Given the description of an element on the screen output the (x, y) to click on. 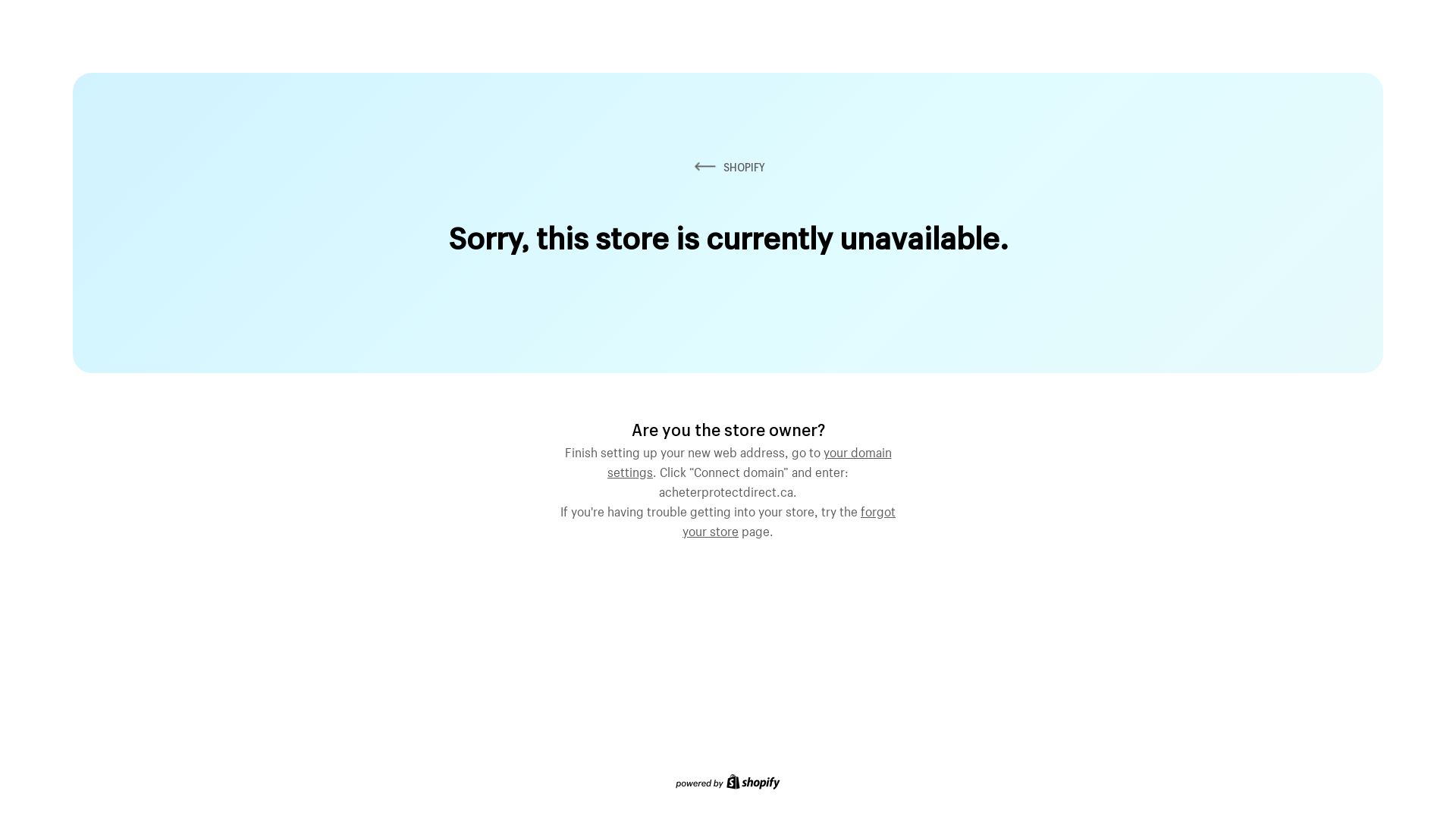
forgot your store Element type: text (788, 519)
your domain settings Element type: text (749, 460)
SHOPIFY Element type: text (727, 167)
